Given the description of an element on the screen output the (x, y) to click on. 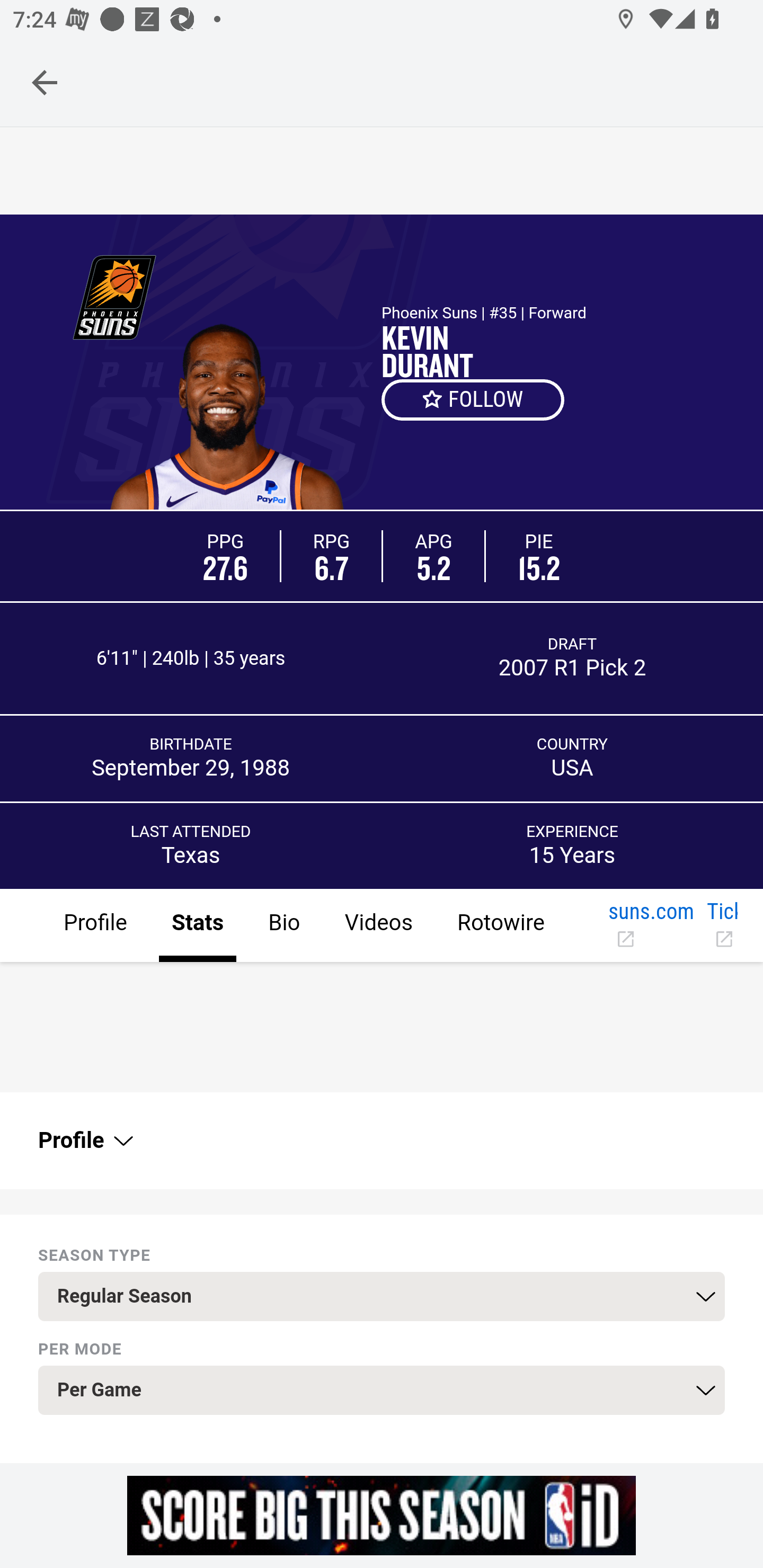
Navigate up (44, 82)
Phoenix Suns Logo (114, 297)
FOLLOW (473, 399)
Profile (95, 926)
Stats (196, 926)
Bio (283, 926)
Videos (377, 926)
Rotowire (500, 926)
suns.com (650, 926)
Tickets (721, 926)
Profile (84, 1140)
Regular Season (381, 1296)
Per Game (381, 1390)
g5nqqygr7owph (381, 1515)
